Given the description of an element on the screen output the (x, y) to click on. 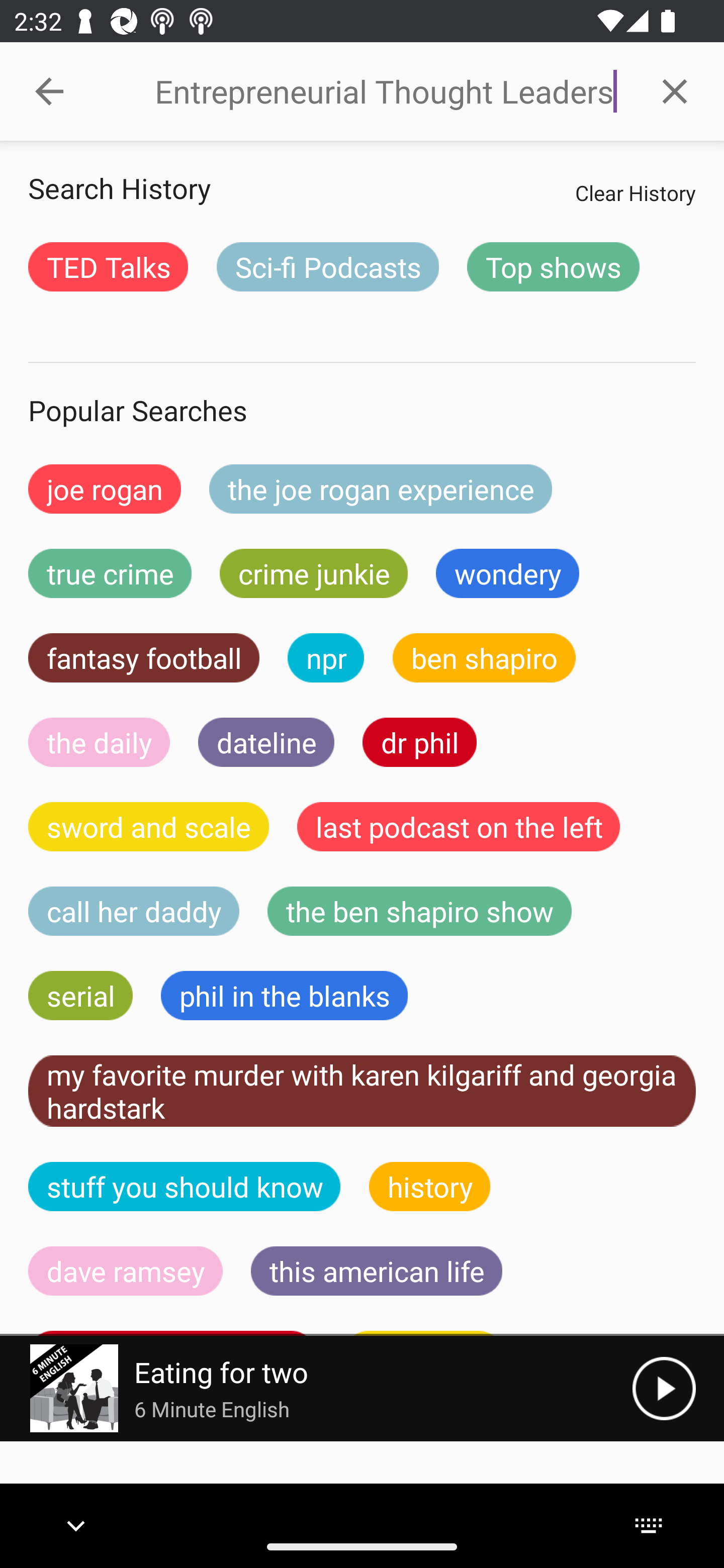
Collapse (49, 91)
Clear query (674, 90)
Entrepreneurial Thought Leaders (389, 91)
Clear History (634, 192)
TED Talks (108, 266)
Sci-fi Podcasts (327, 266)
Top shows (552, 266)
joe rogan (104, 489)
the joe rogan experience (380, 489)
true crime (109, 572)
crime junkie (313, 572)
wondery (507, 572)
fantasy football (143, 657)
npr (325, 657)
ben shapiro (483, 657)
the daily (99, 742)
dateline (266, 742)
dr phil (419, 742)
sword and scale (148, 826)
last podcast on the left (458, 826)
call her daddy (133, 910)
the ben shapiro show (419, 910)
serial (80, 995)
phil in the blanks (283, 995)
stuff you should know (184, 1185)
history (429, 1185)
dave ramsey (125, 1270)
this american life (376, 1270)
Picture Eating for two 6 Minute English (316, 1388)
Play (663, 1388)
